Given the description of an element on the screen output the (x, y) to click on. 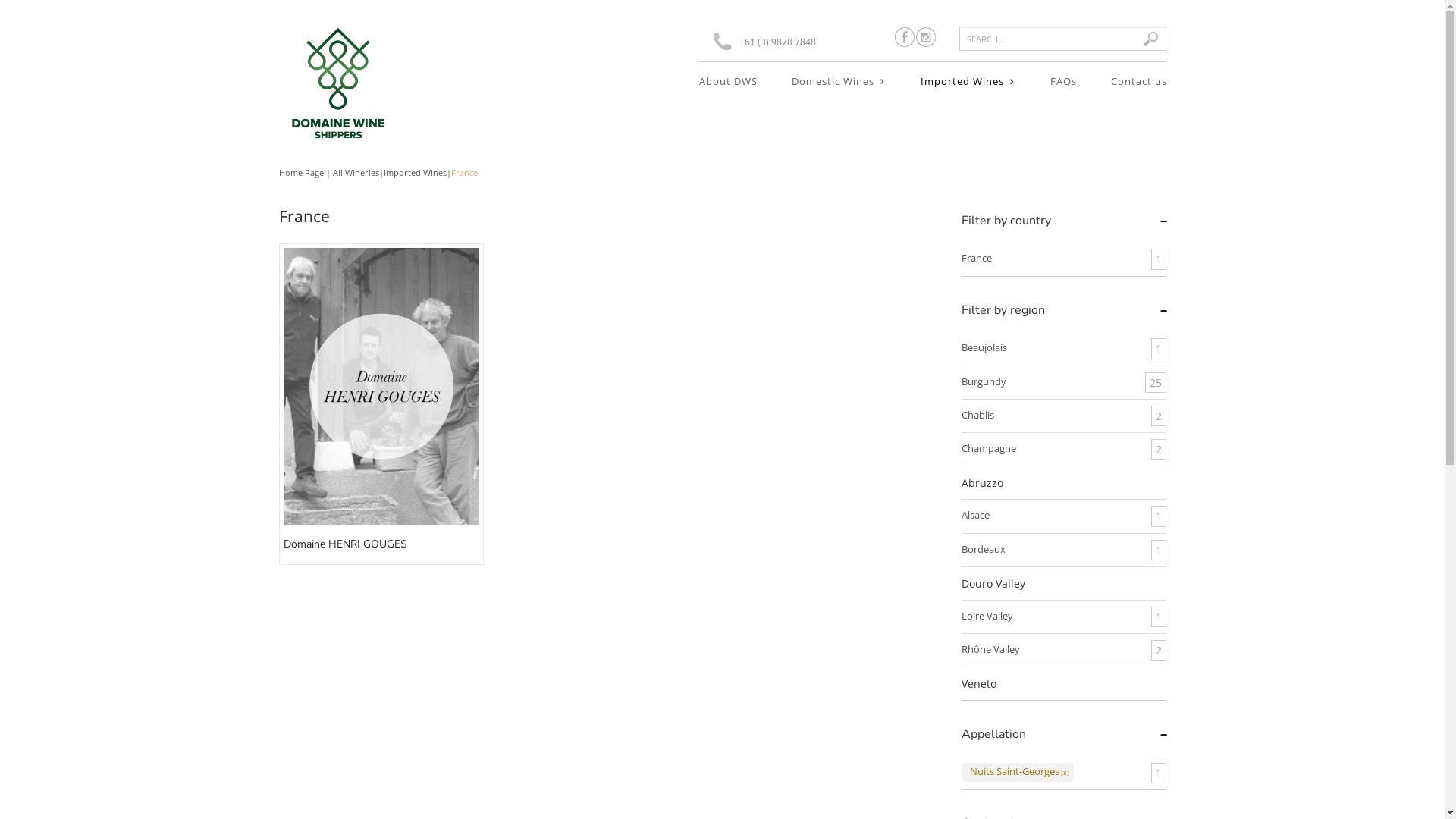
France Element type: text (463, 172)
Beaujolais Element type: text (984, 347)
Contact us Element type: text (1138, 80)
Imported Wines Element type: text (414, 172)
Champagne Element type: text (988, 448)
Domaine Wine Shippers Element type: hover (335, 83)
FAQs Element type: text (1063, 80)
Nuits Saint-Georges Element type: text (1017, 771)
Header-IMP-HENRI GOUGES2 Element type: hover (381, 385)
Instagram Element type: hover (925, 37)
France Element type: text (976, 257)
Burgundy Element type: text (983, 381)
Bordeaux Element type: text (983, 548)
About DWS Element type: text (727, 80)
Chablis Element type: text (977, 414)
All Wineries Element type: text (355, 172)
Alsace Element type: text (975, 514)
Home Page Element type: text (301, 172)
Loire Valley Element type: text (987, 615)
Search Element type: text (1154, 38)
Domaine Wine Shippers Element type: hover (335, 70)
Facebook Element type: hover (904, 37)
